Given the description of an element on the screen output the (x, y) to click on. 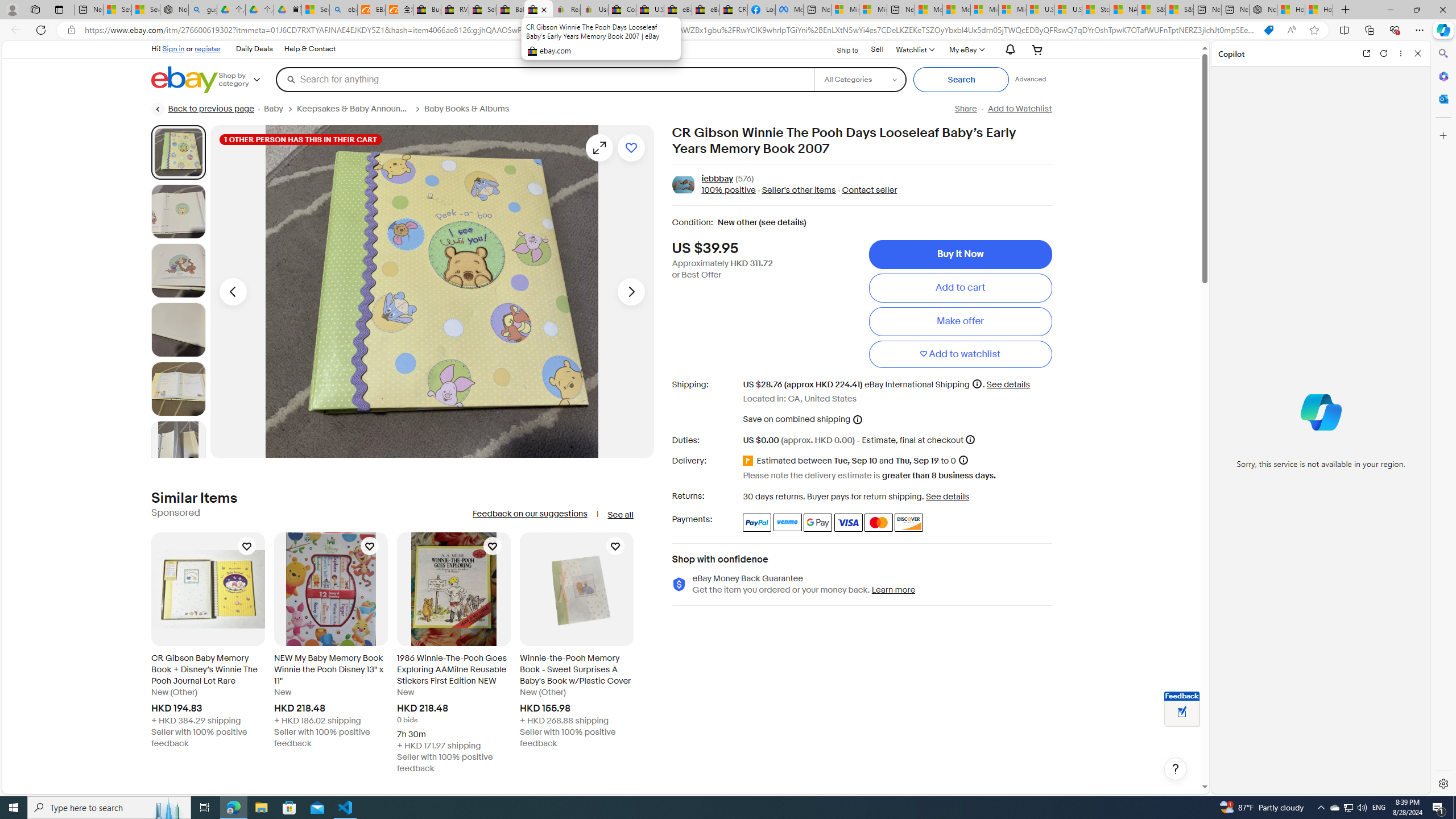
Contact seller (868, 190)
Sign in (172, 48)
  Seller's other items (795, 190)
See details - for more information about returns (947, 496)
Buy It Now (959, 253)
Leave feedback about your eBay ViewItem experience (1181, 713)
Advanced Search (1030, 78)
